Given the description of an element on the screen output the (x, y) to click on. 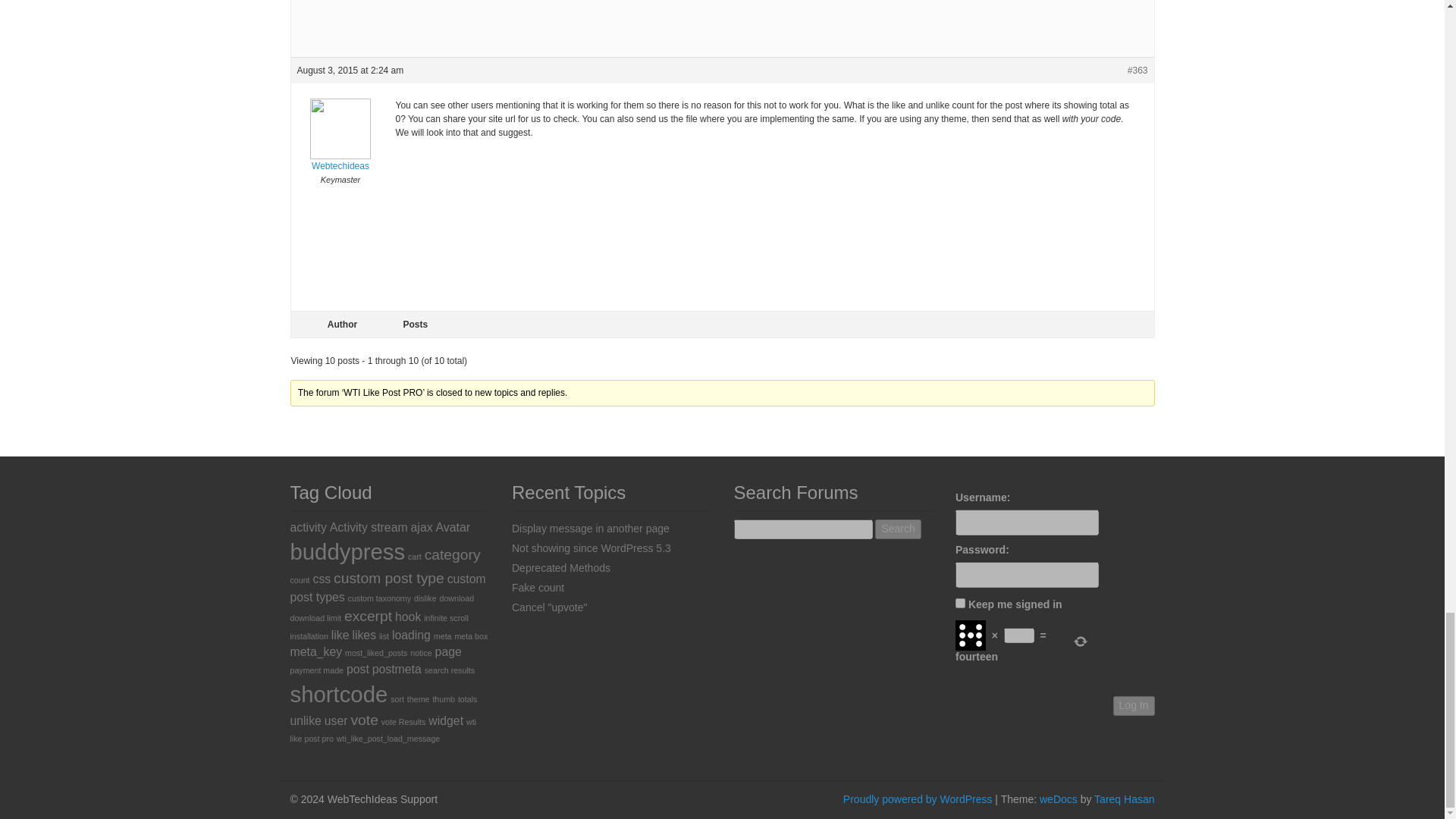
View Webtechideas's profile (340, 145)
forever (960, 603)
Search (897, 528)
